Given the description of an element on the screen output the (x, y) to click on. 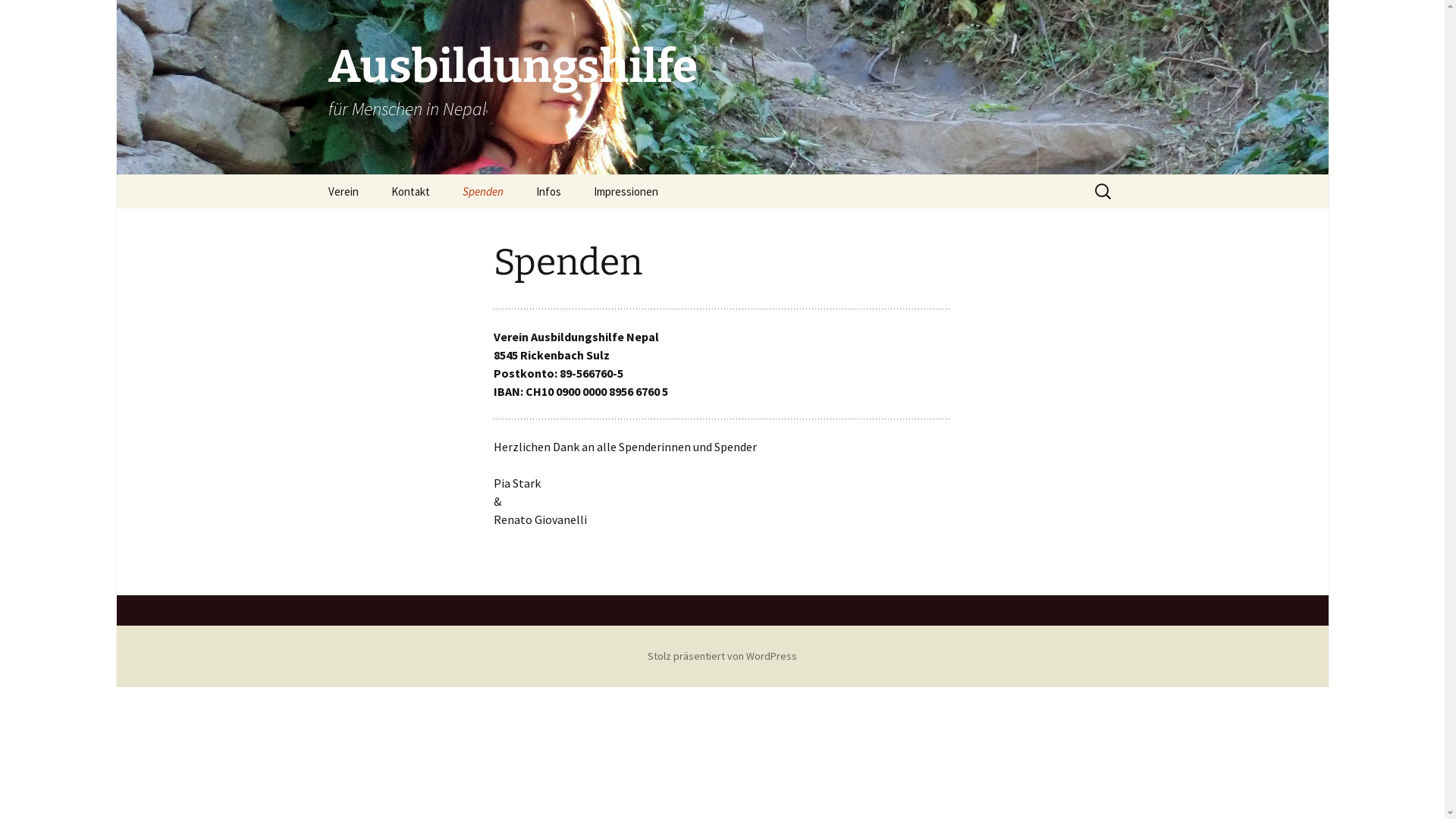
Suche Element type: text (18, 16)
Erdbeben 2015 Element type: text (595, 225)
Spenden Element type: text (482, 191)
Zum Inhalt springen Element type: text (312, 173)
Kontakt Element type: text (410, 191)
Impressionen Element type: text (624, 191)
Infos Element type: text (547, 191)
Verein Element type: text (342, 191)
